Given the description of an element on the screen output the (x, y) to click on. 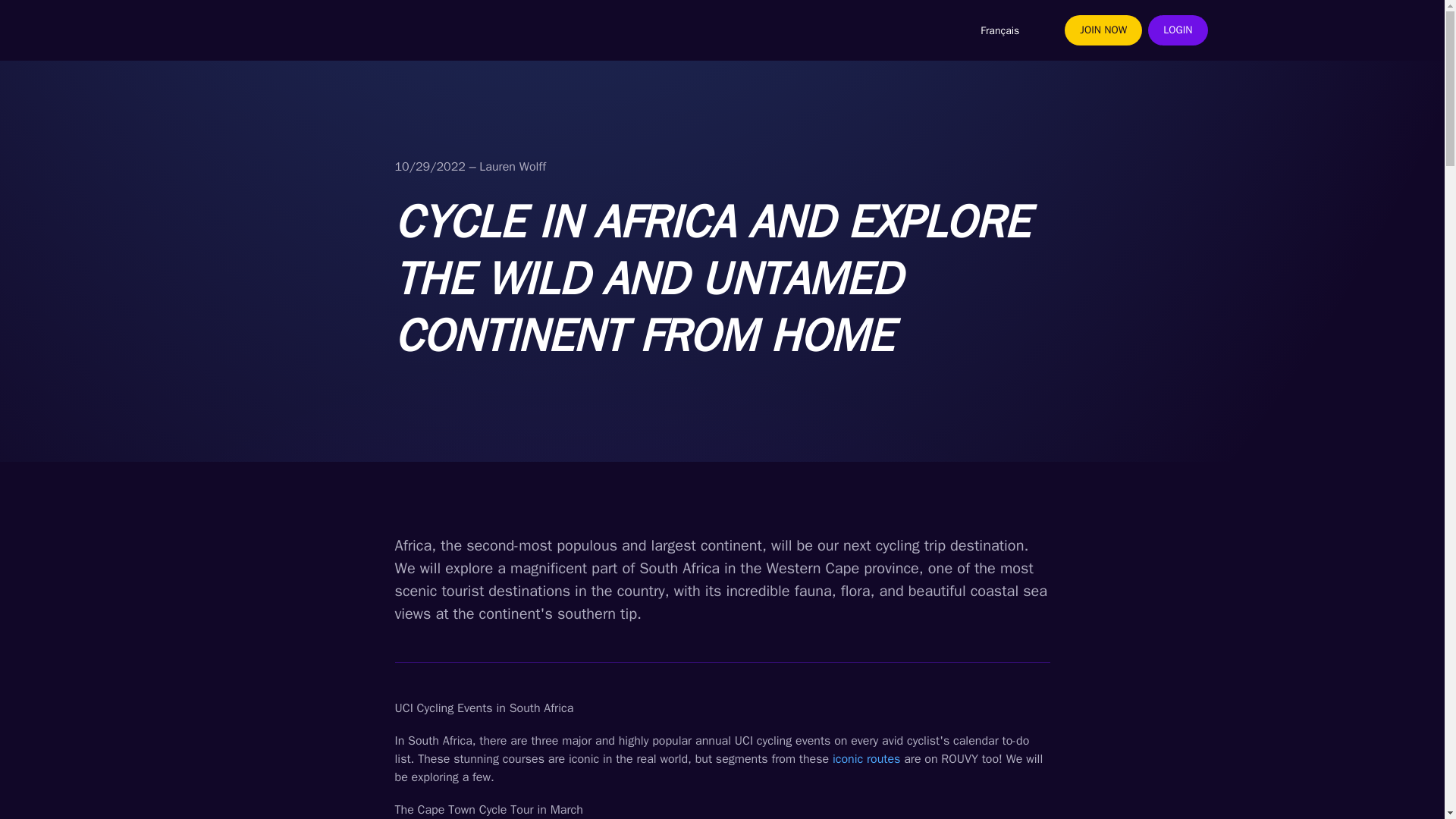
iconic routes (865, 758)
JOIN NOW (1102, 30)
LOGIN (1177, 30)
